Given the description of an element on the screen output the (x, y) to click on. 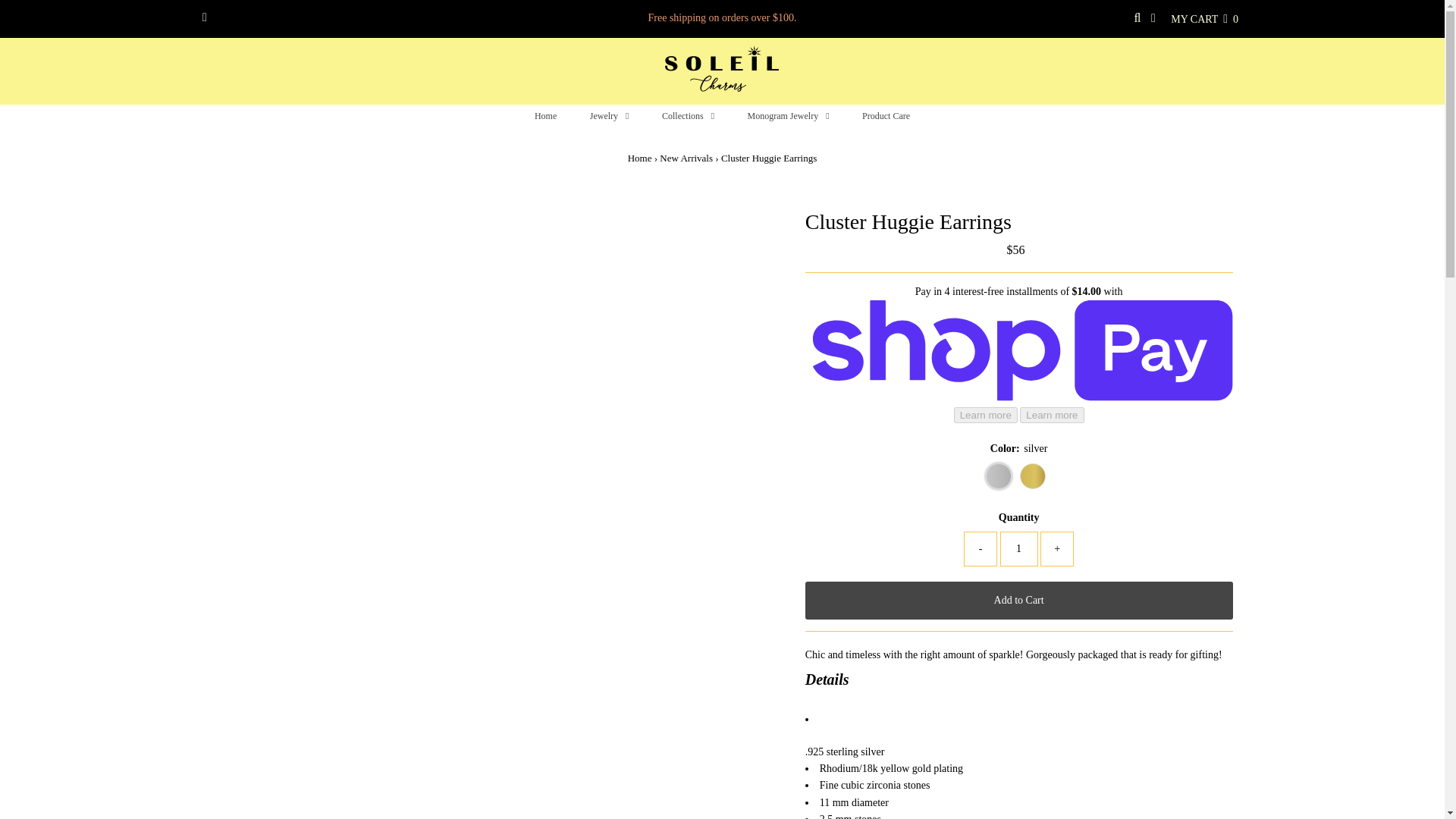
Home (639, 157)
1 (1019, 548)
Add to Cart (1019, 600)
